Given the description of an element on the screen output the (x, y) to click on. 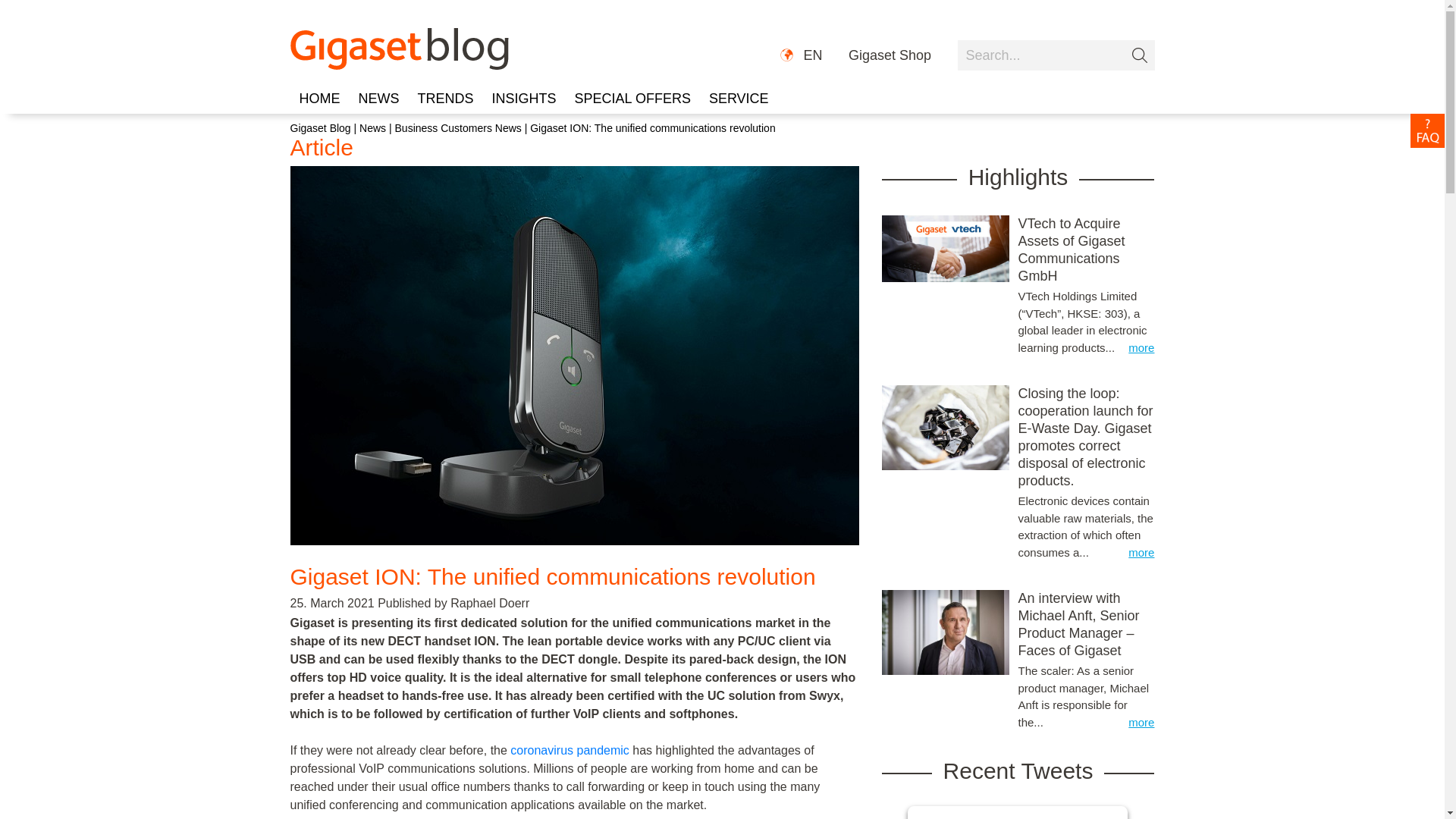
Gehe zum News Kategorie-Archiv. (372, 128)
INSIGHTS (524, 98)
Gehe zu Gigaset Blog. (319, 128)
NEWS (378, 98)
Search (1055, 55)
Gigaset Shop (889, 55)
HOME (319, 98)
TRENDS (444, 98)
Gehe zum Business Customers News Kategorie-Archiv. (457, 128)
